Given the description of an element on the screen output the (x, y) to click on. 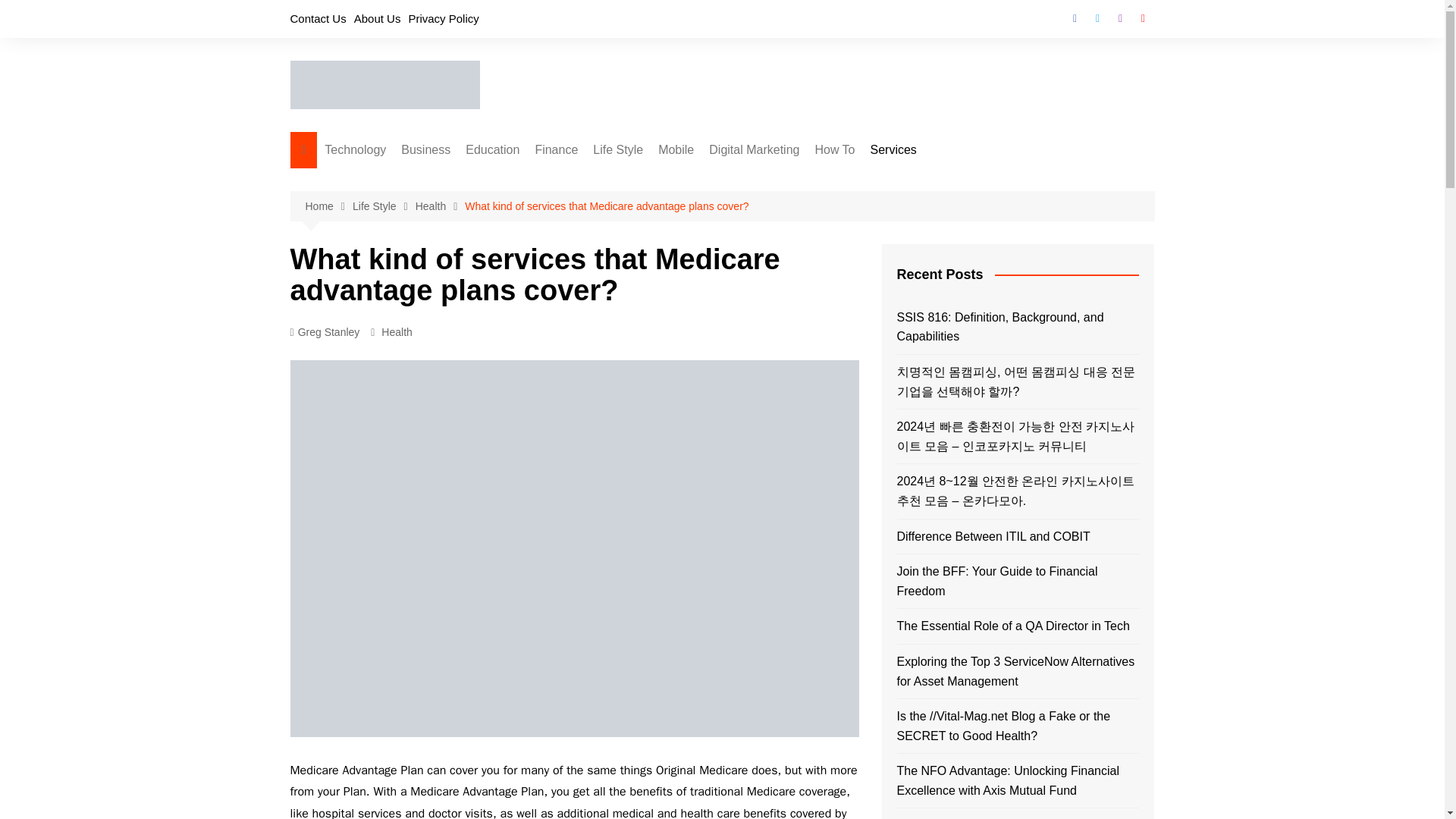
Twitter (1097, 18)
Insurance (610, 205)
IoT (400, 205)
Web Designing (476, 205)
Contact Us (317, 18)
Networking (400, 330)
Youtube (1142, 18)
Website Development (476, 230)
Top Firms (476, 305)
Finance (556, 149)
